Given the description of an element on the screen output the (x, y) to click on. 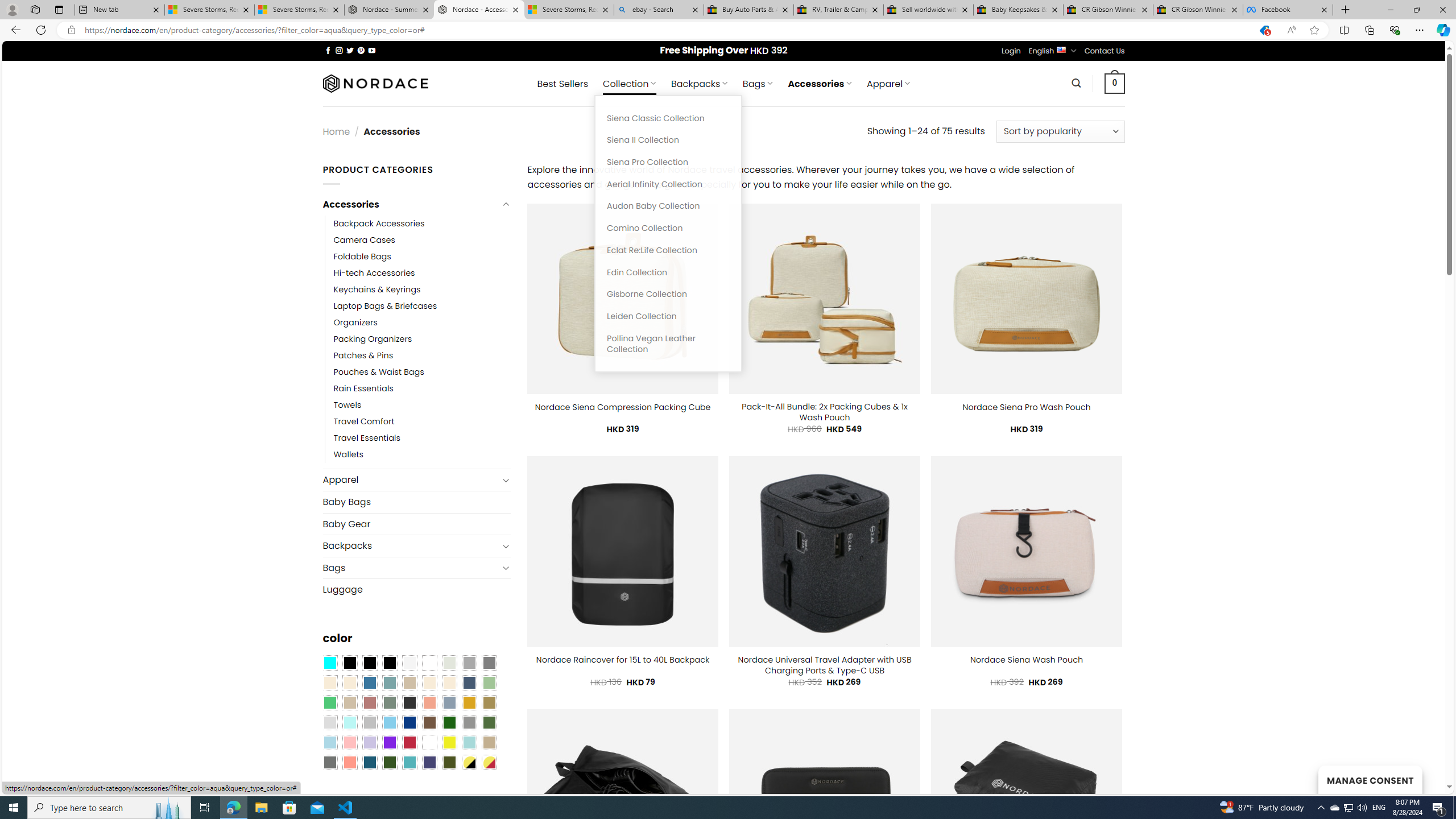
Laptop Bags & Briefcases (384, 305)
Forest (389, 762)
Camera Cases (363, 239)
Aqua Blue (329, 662)
Eclat Re:Life Collection (668, 250)
Pink (349, 741)
Aerial Infinity Collection (668, 183)
Wallets (348, 454)
Wallets (422, 454)
